Given the description of an element on the screen output the (x, y) to click on. 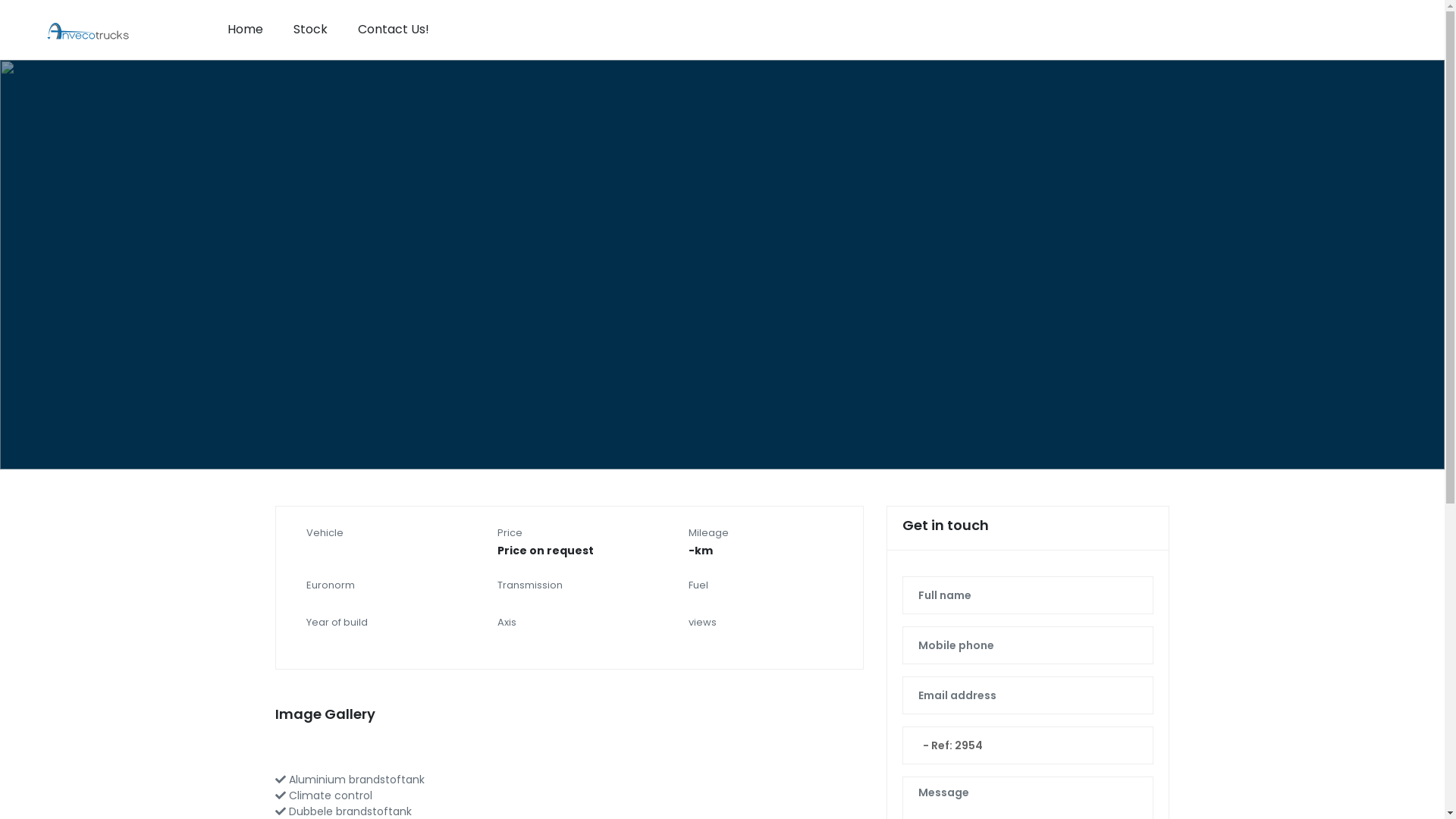
Contact Us! Element type: text (393, 29)
Home Element type: text (245, 29)
Stock Element type: text (310, 29)
